Given the description of an element on the screen output the (x, y) to click on. 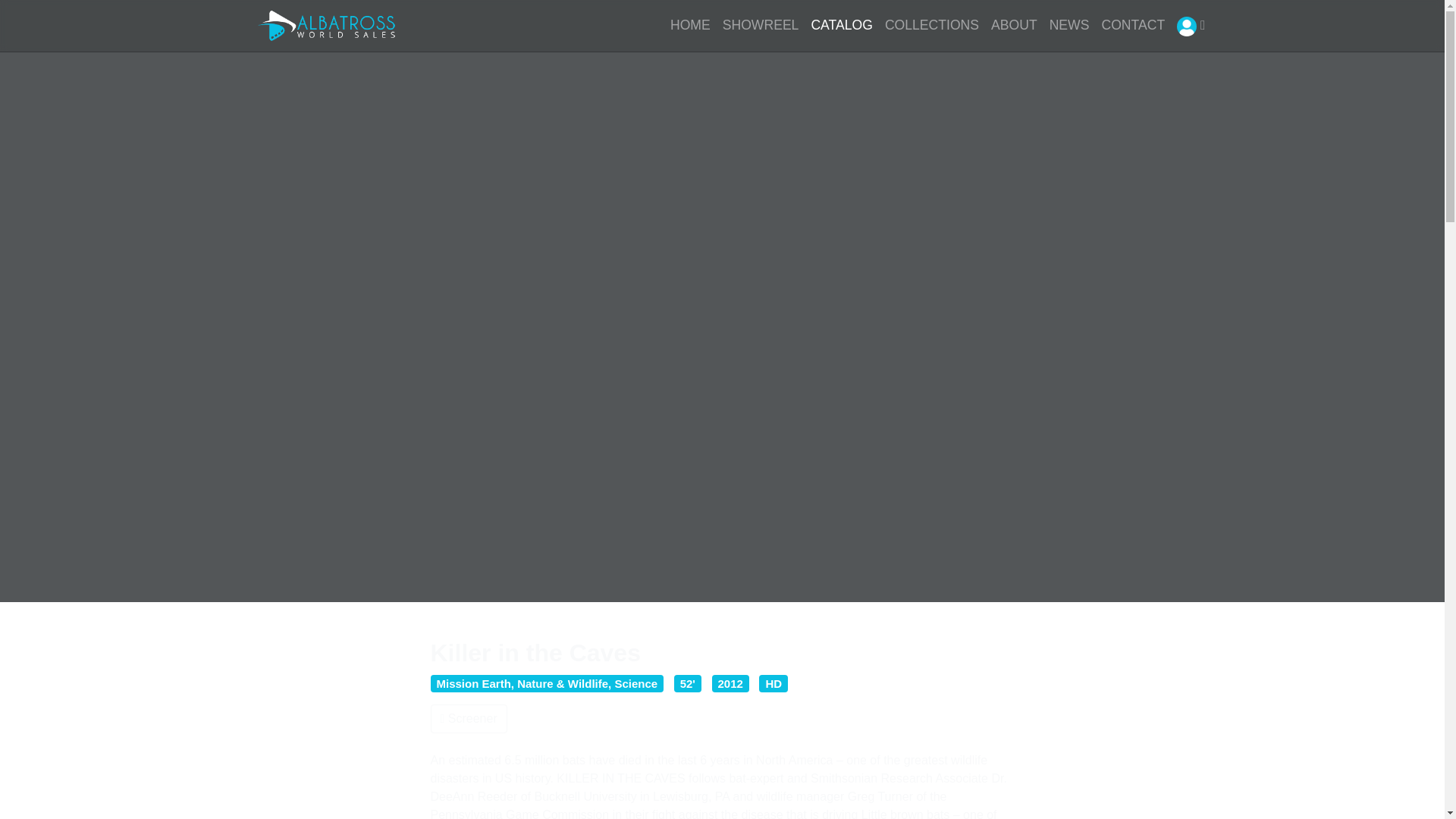
CONTACT (1132, 24)
SHOWREEL (760, 24)
ABOUT (1014, 24)
CATALOG (841, 24)
HOME (689, 24)
NEWS (1069, 24)
Screener (468, 718)
COLLECTIONS (932, 24)
